Given the description of an element on the screen output the (x, y) to click on. 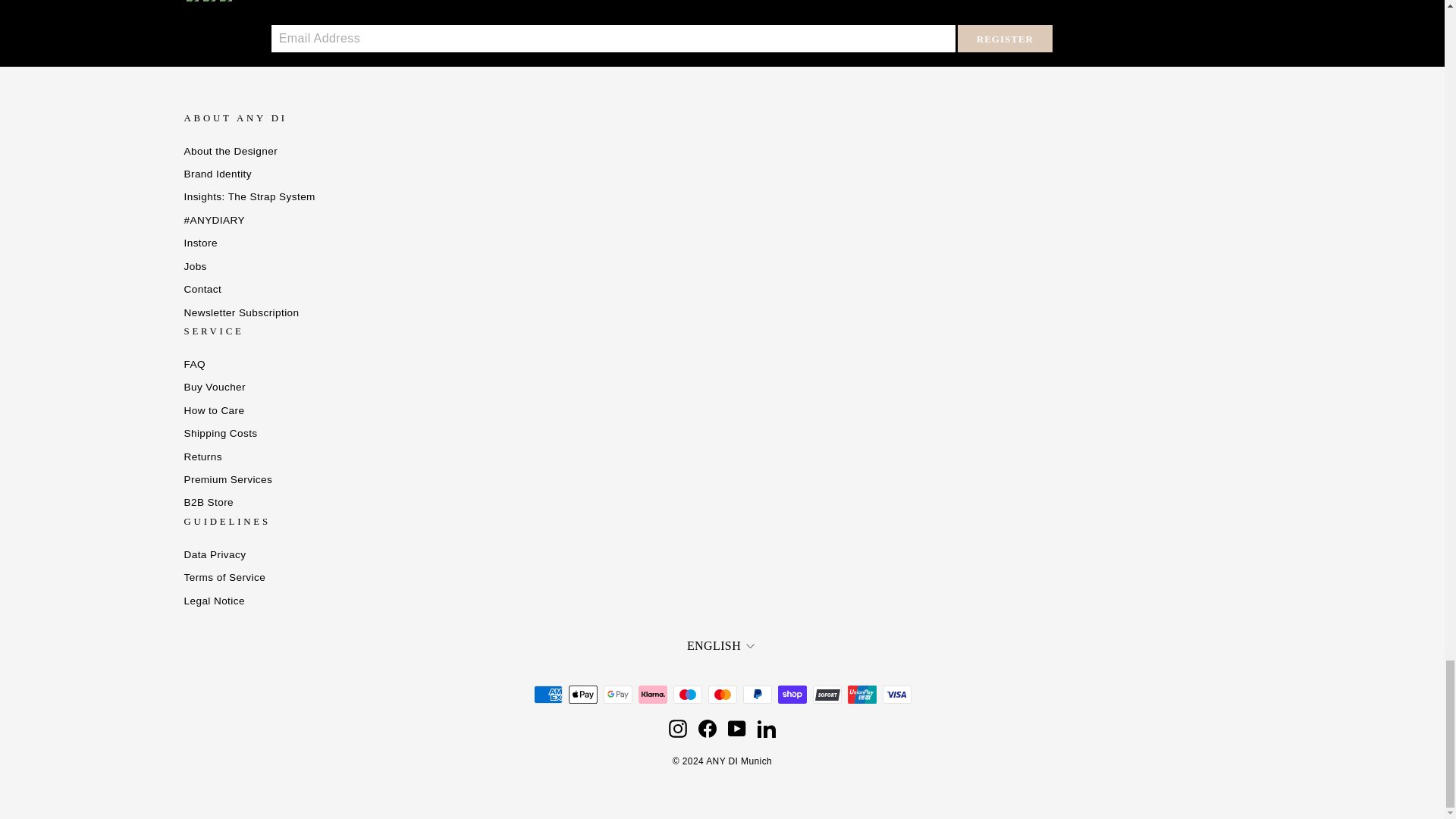
ANY DI Munich on LinkedIn (766, 728)
American Express (548, 694)
ANY DI Munich on Instagram (677, 728)
ANY DI Munich on Facebook (707, 728)
ANY DI Munich on YouTube (736, 728)
